Given the description of an element on the screen output the (x, y) to click on. 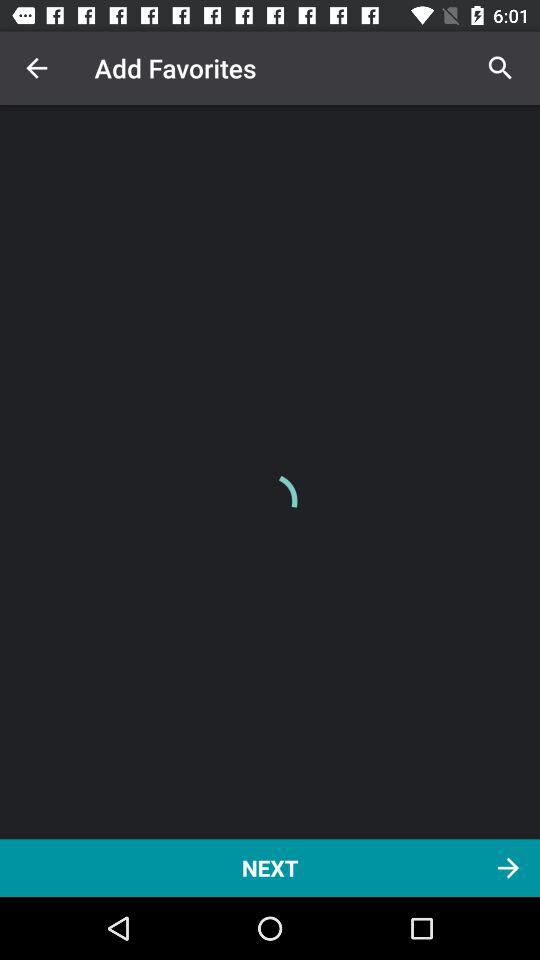
press the item next to the add favorites (500, 67)
